Given the description of an element on the screen output the (x, y) to click on. 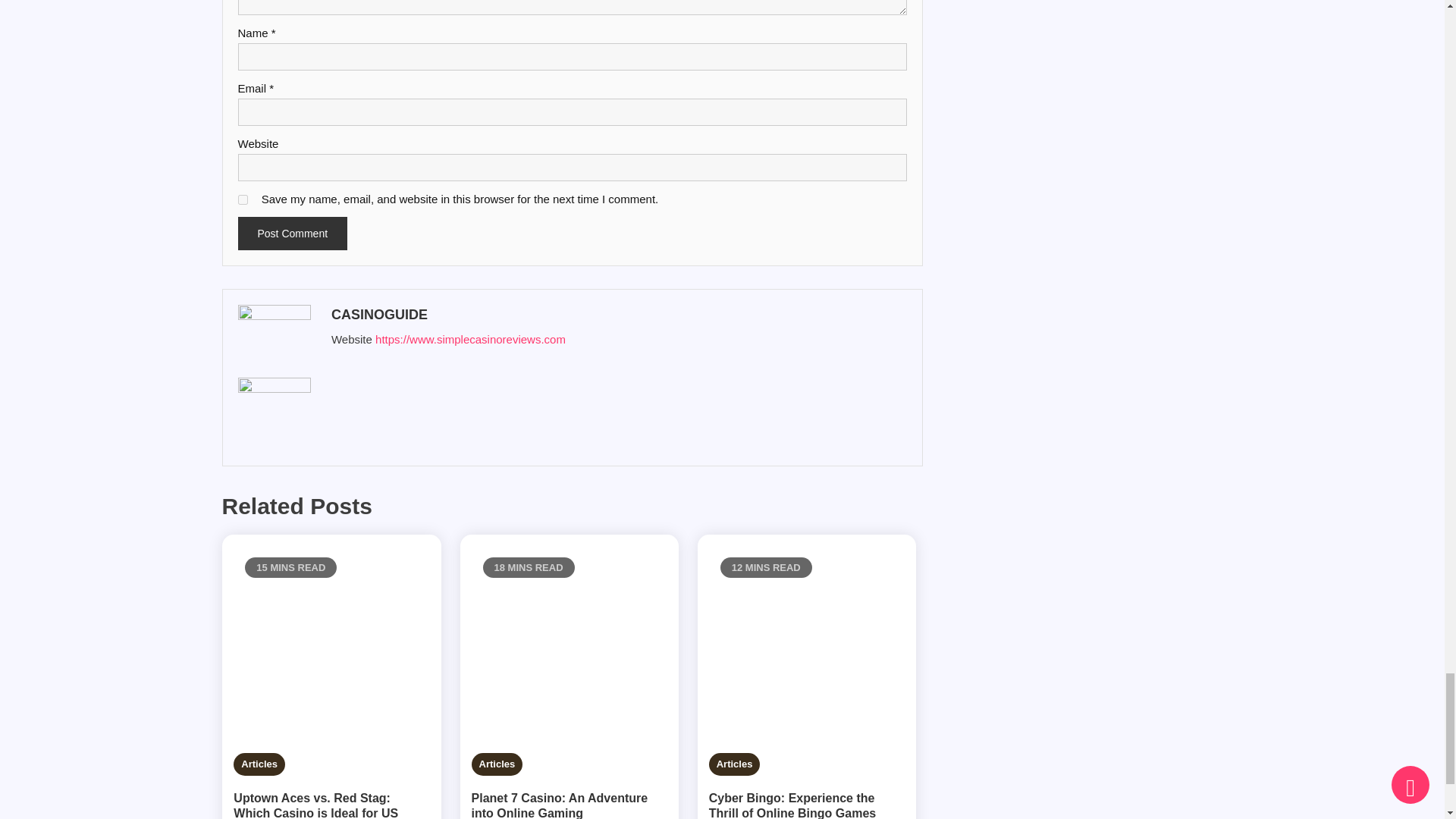
yes (242, 199)
Posts by casinoguide (615, 314)
Post Comment (292, 233)
